Given the description of an element on the screen output the (x, y) to click on. 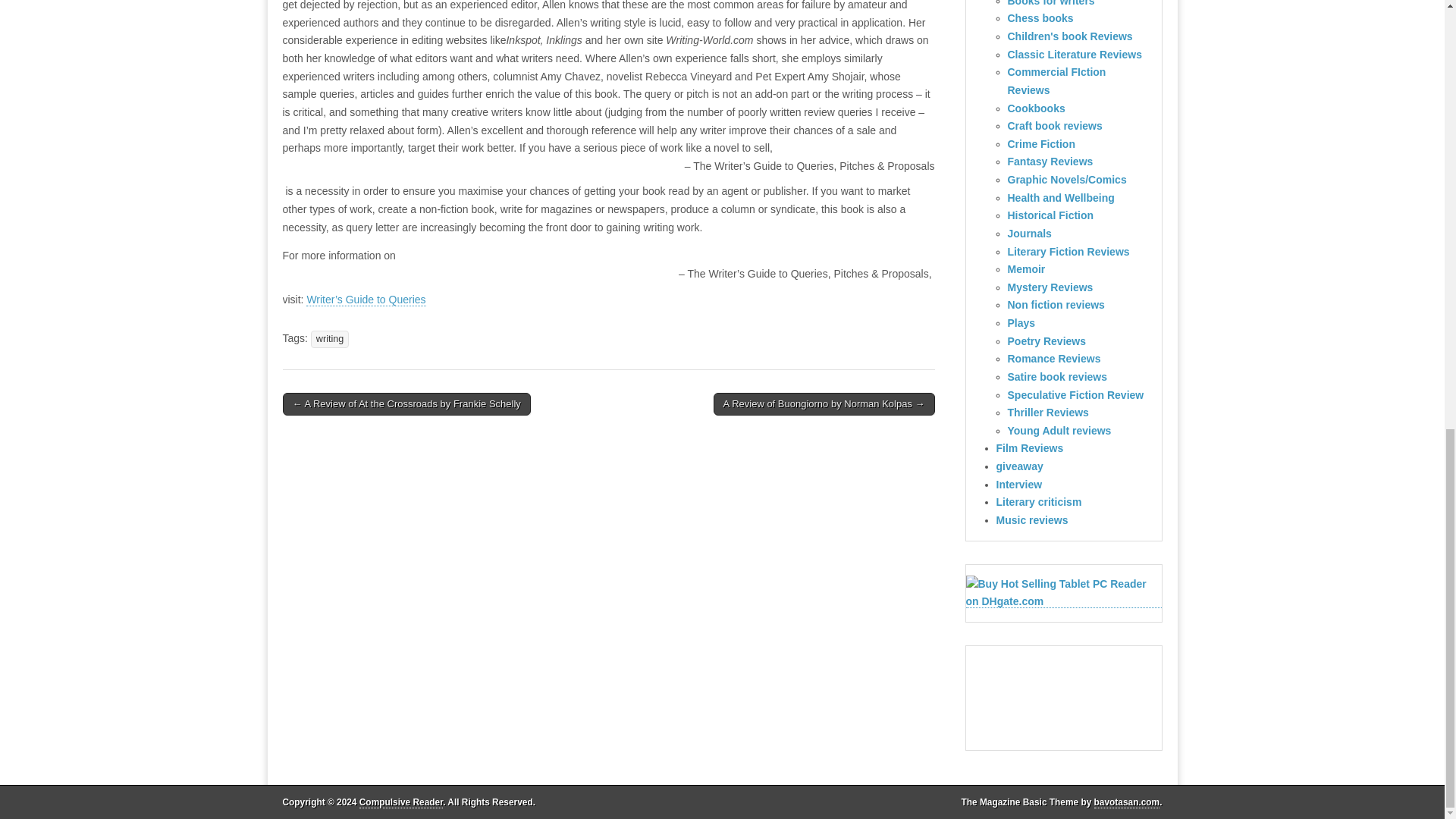
Crime Fiction (1040, 143)
Fantasy Reviews (1050, 161)
Classic Literature Reviews (1074, 54)
Commercial FIction Reviews (1056, 81)
Books for writers (1050, 3)
writing (330, 339)
Cookbooks (1035, 108)
Chess books (1040, 18)
Craft book reviews (1054, 125)
Children's book Reviews (1069, 36)
Health and Wellbeing (1060, 197)
